Given the description of an element on the screen output the (x, y) to click on. 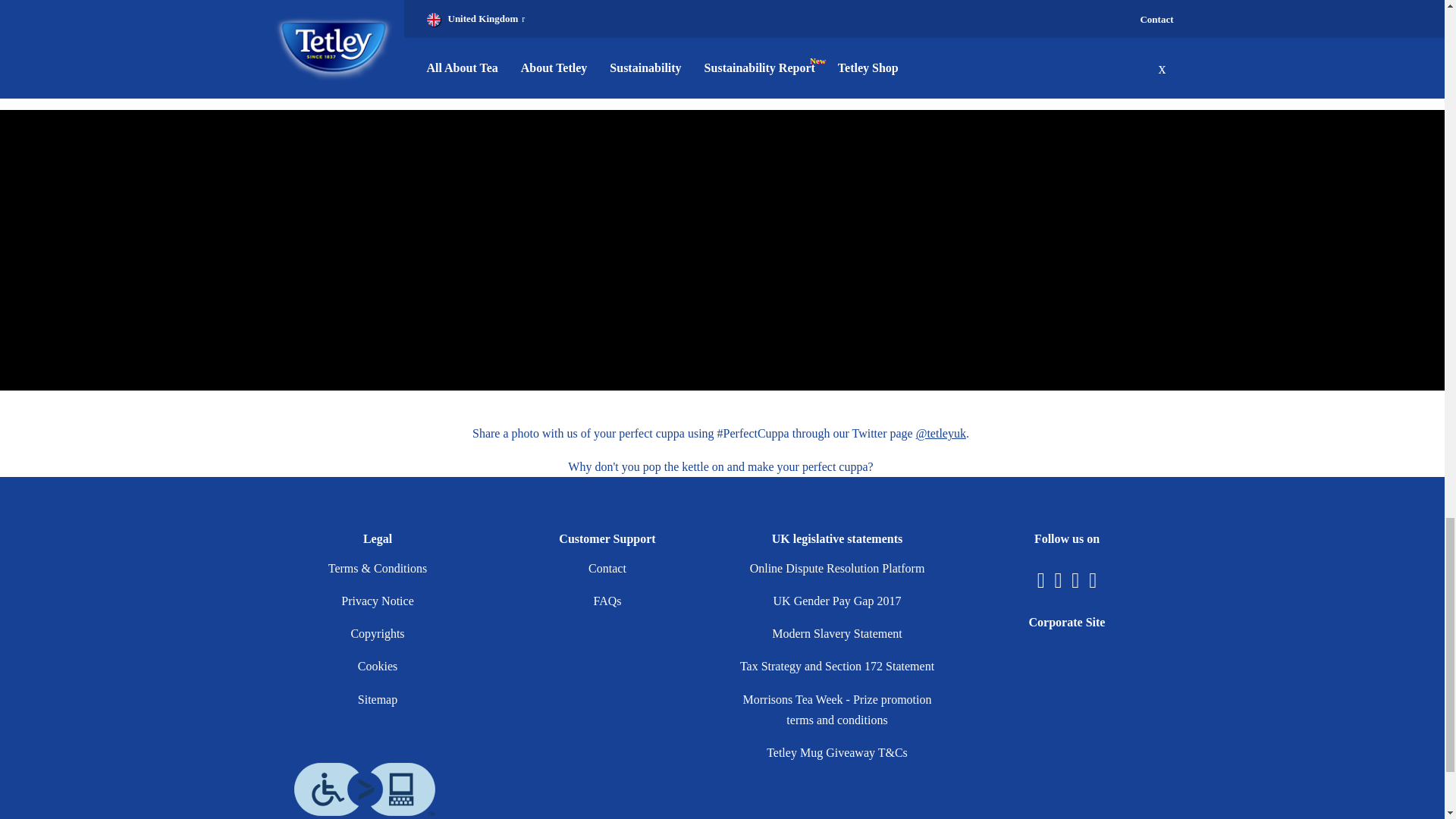
Sitemap (377, 698)
Modern Slavery Statement (836, 633)
Accessibility (363, 788)
